Given the description of an element on the screen output the (x, y) to click on. 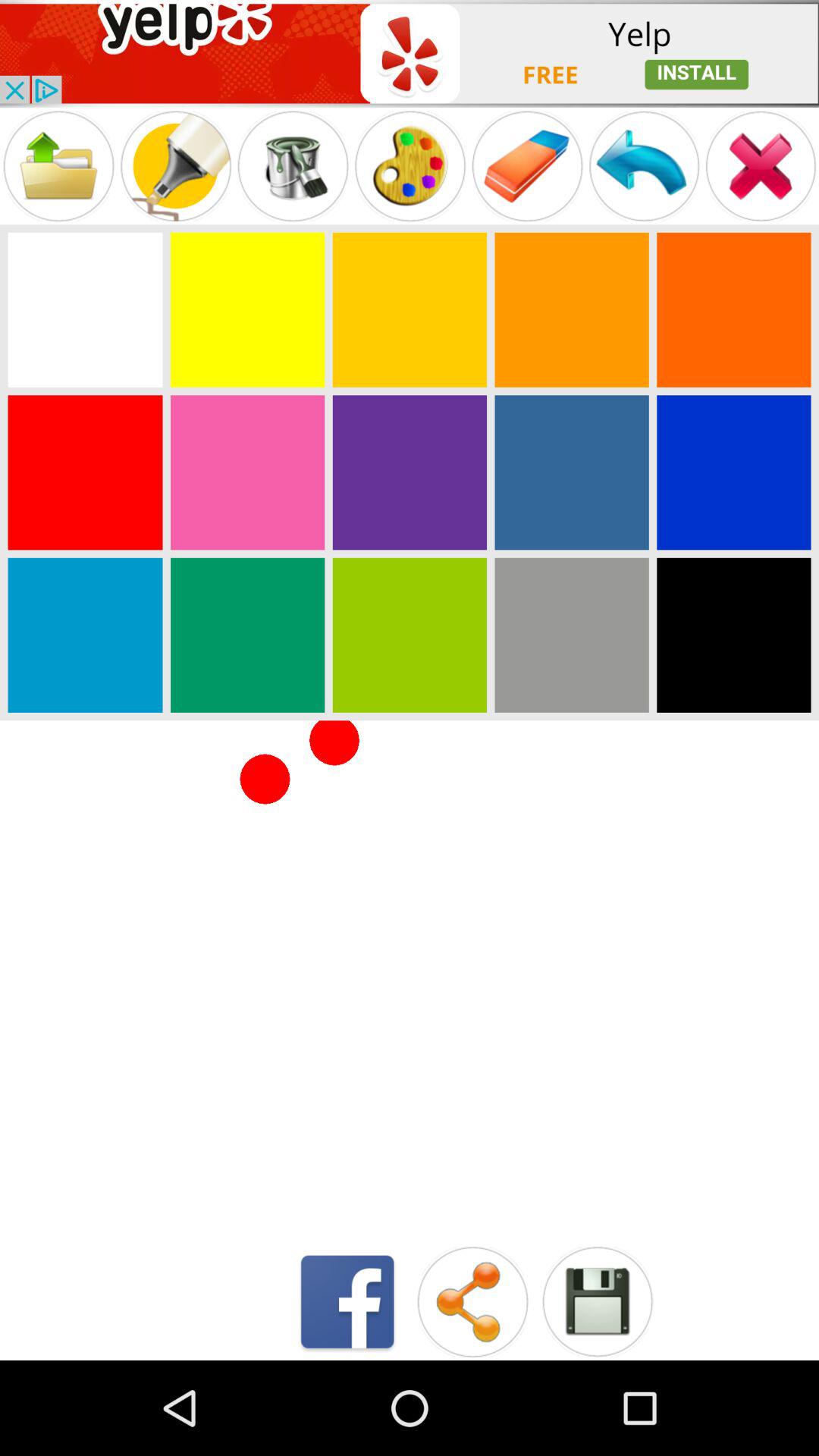
select to cancel (760, 165)
